Given the description of an element on the screen output the (x, y) to click on. 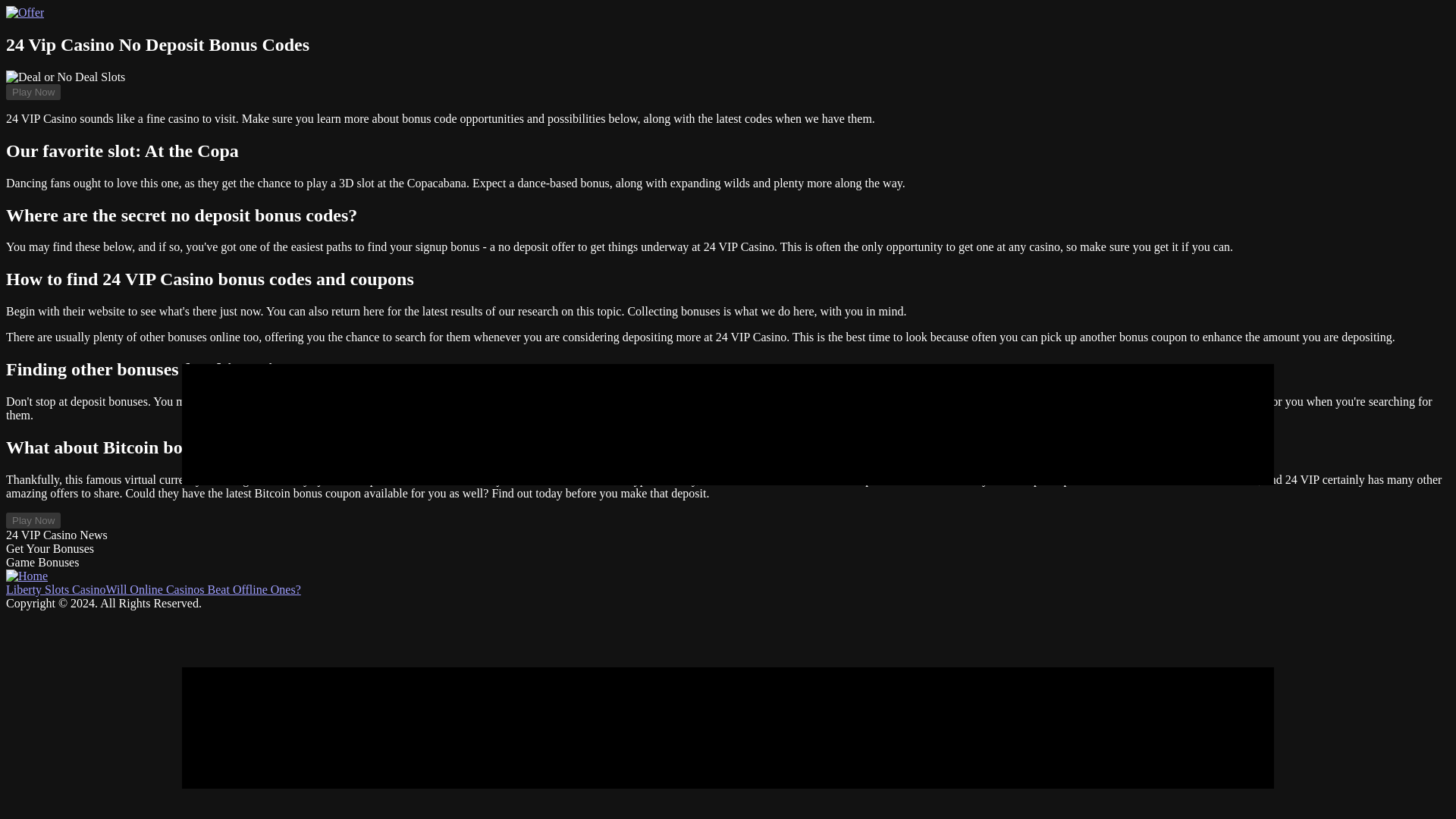
Play Now (33, 91)
Play Now (33, 520)
Liberty Slots Casino (55, 589)
Will Online Casinos Beat Offline Ones? (203, 589)
